Given the description of an element on the screen output the (x, y) to click on. 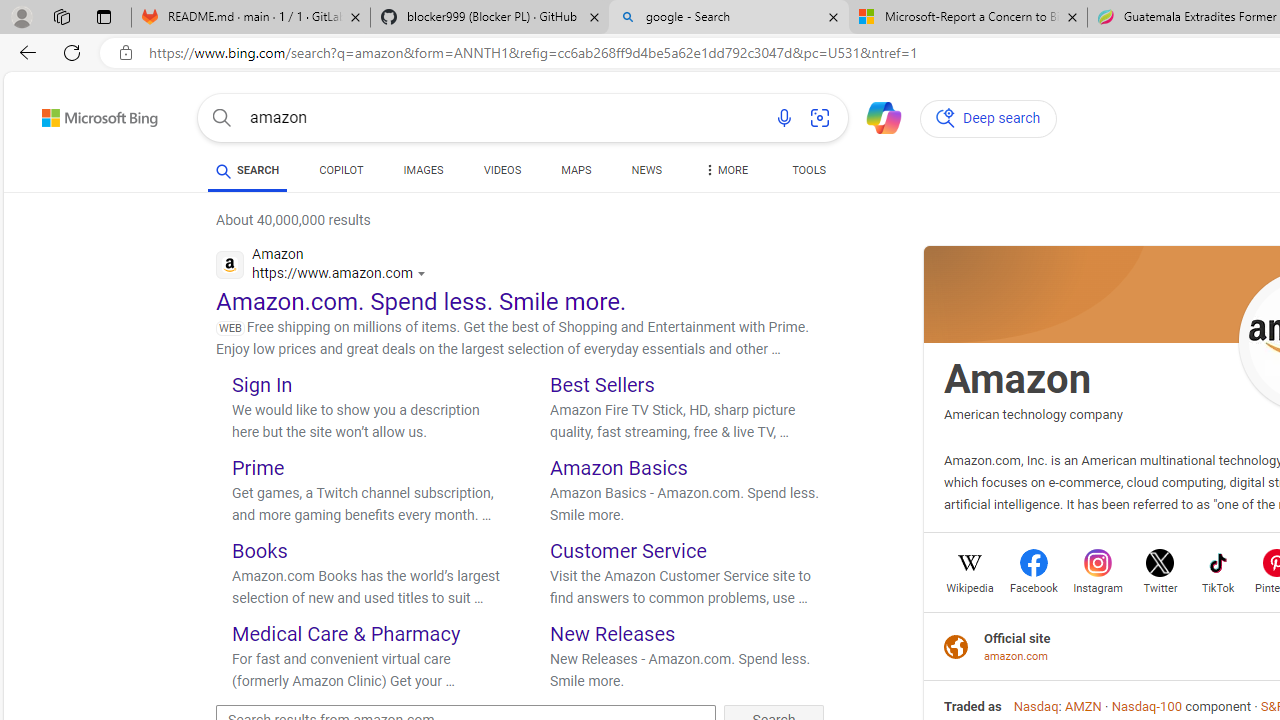
SEARCH (247, 170)
American technology company (1033, 413)
TikTok (1217, 586)
Search using voice (783, 117)
Wikipedia (969, 586)
Microsoft-Report a Concern to Bing (967, 17)
Dropdown Menu (724, 170)
AMZN (1082, 706)
Nasdaq-100 (1146, 706)
Prime (258, 467)
Search using an image (820, 117)
